Given the description of an element on the screen output the (x, y) to click on. 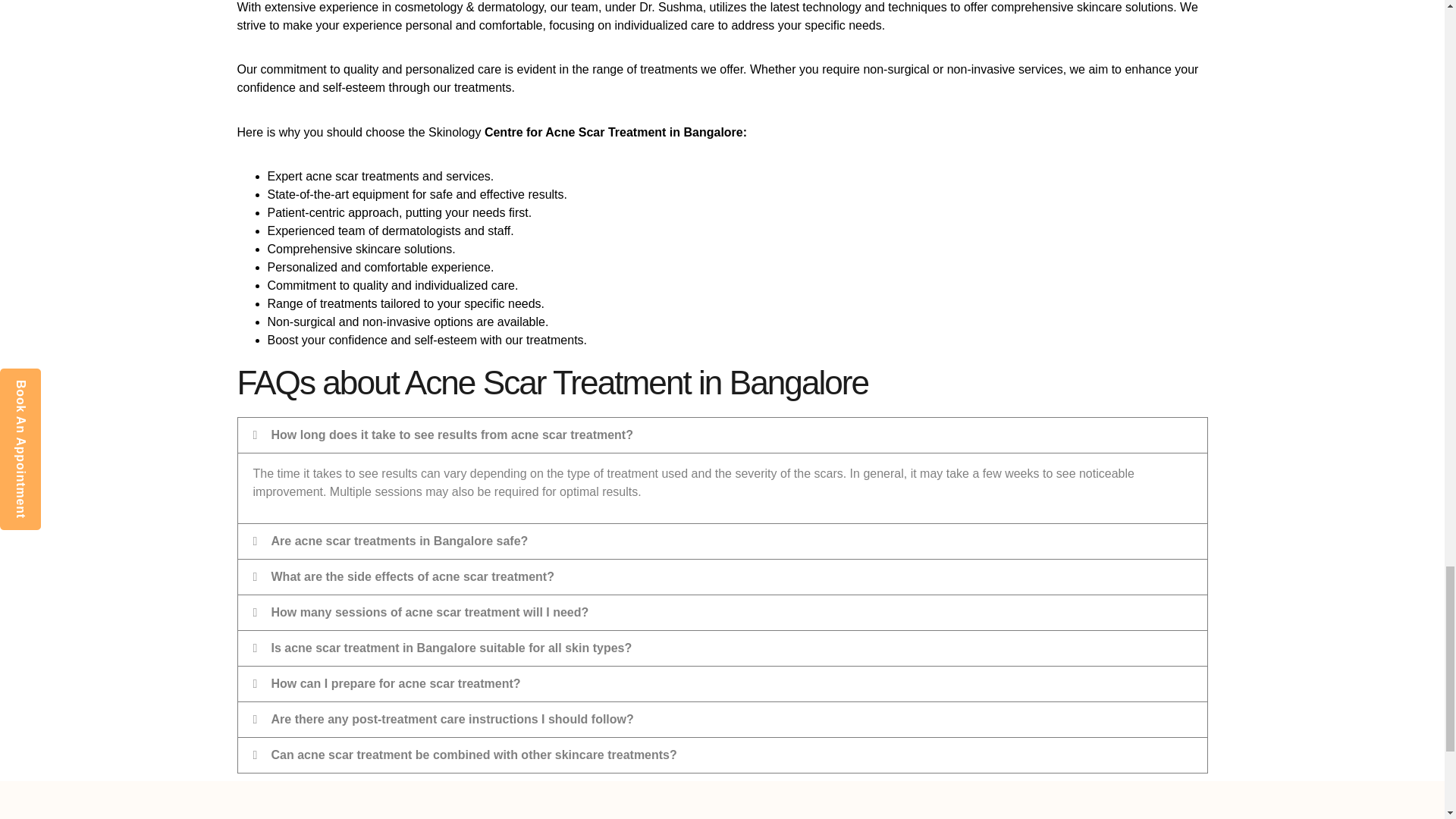
How can I prepare for acne scar treatment? (395, 683)
How many sessions of acne scar treatment will I need? (429, 612)
What are the side effects of acne scar treatment? (412, 576)
Are acne scar treatments in Bangalore safe? (399, 540)
